Given the description of an element on the screen output the (x, y) to click on. 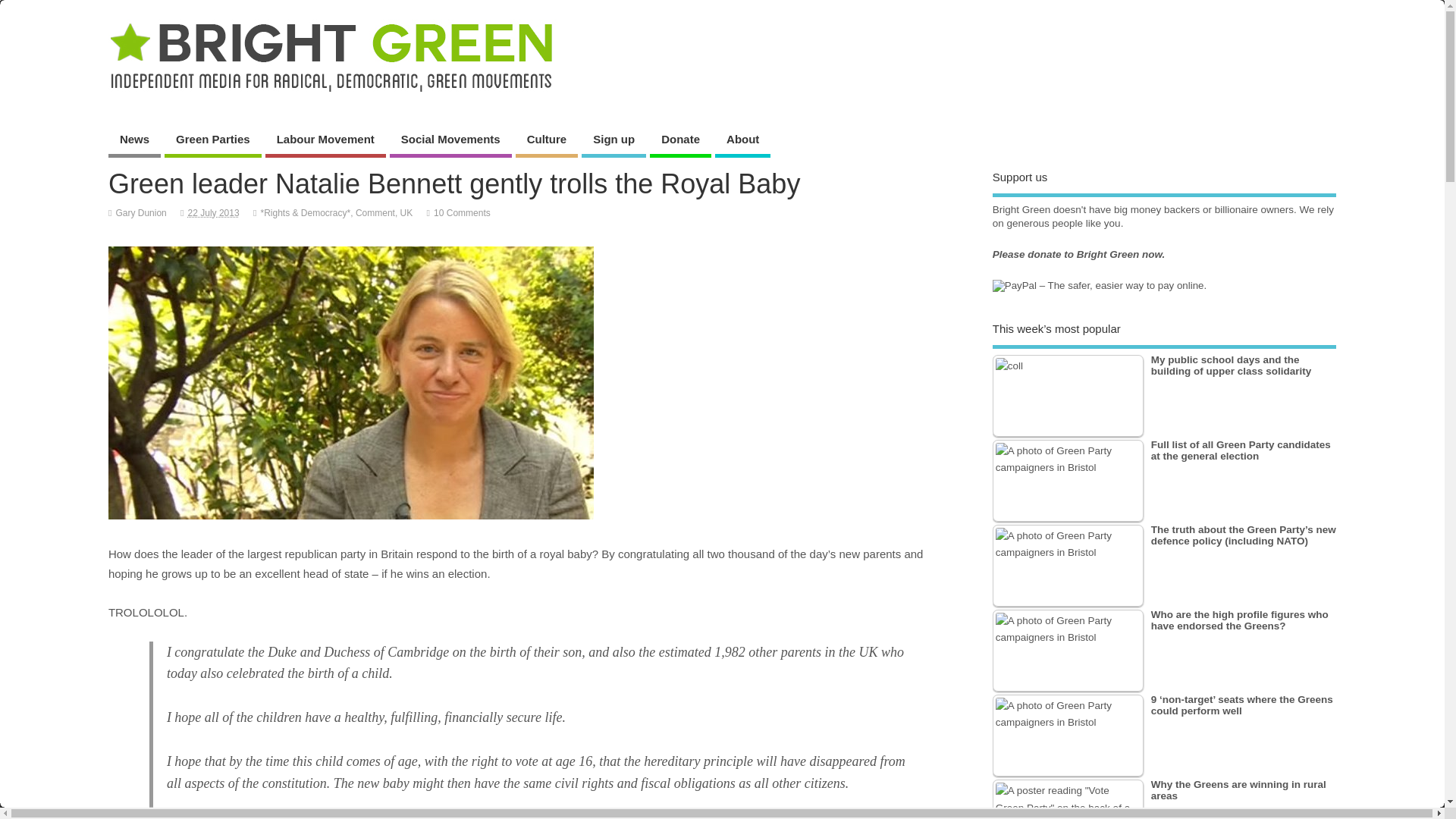
10 Comments (461, 213)
Culture (546, 141)
Natalie Bennett (350, 382)
Gary Dunion (140, 213)
Comment (374, 213)
Sign up (613, 141)
Labour Movement (324, 141)
News (133, 141)
Green Parties (213, 141)
About (742, 141)
